Given the description of an element on the screen output the (x, y) to click on. 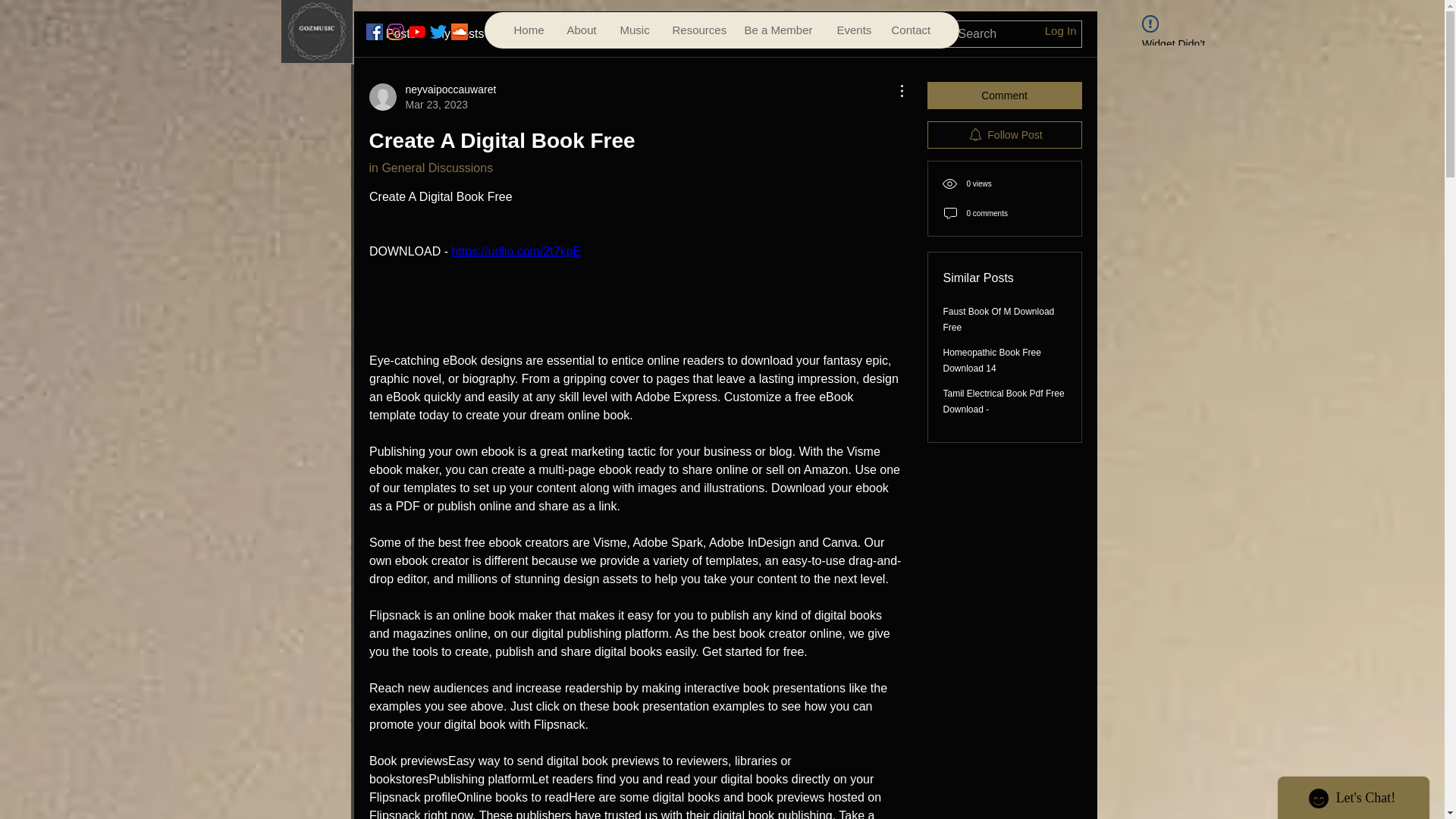
About (581, 30)
Home (528, 30)
Events (852, 30)
Contact (910, 30)
Faust Book Of M Download Free (998, 319)
Music (634, 30)
Log In (1060, 30)
Follow Post (1003, 134)
in General Discussions (430, 167)
My Posts (458, 34)
Comment (1003, 94)
All Posts (391, 34)
Tamil Electrical Book Pdf Free Download - (1003, 401)
Homeopathic Book Free Download 14 (992, 360)
Be a Member (778, 30)
